Given the description of an element on the screen output the (x, y) to click on. 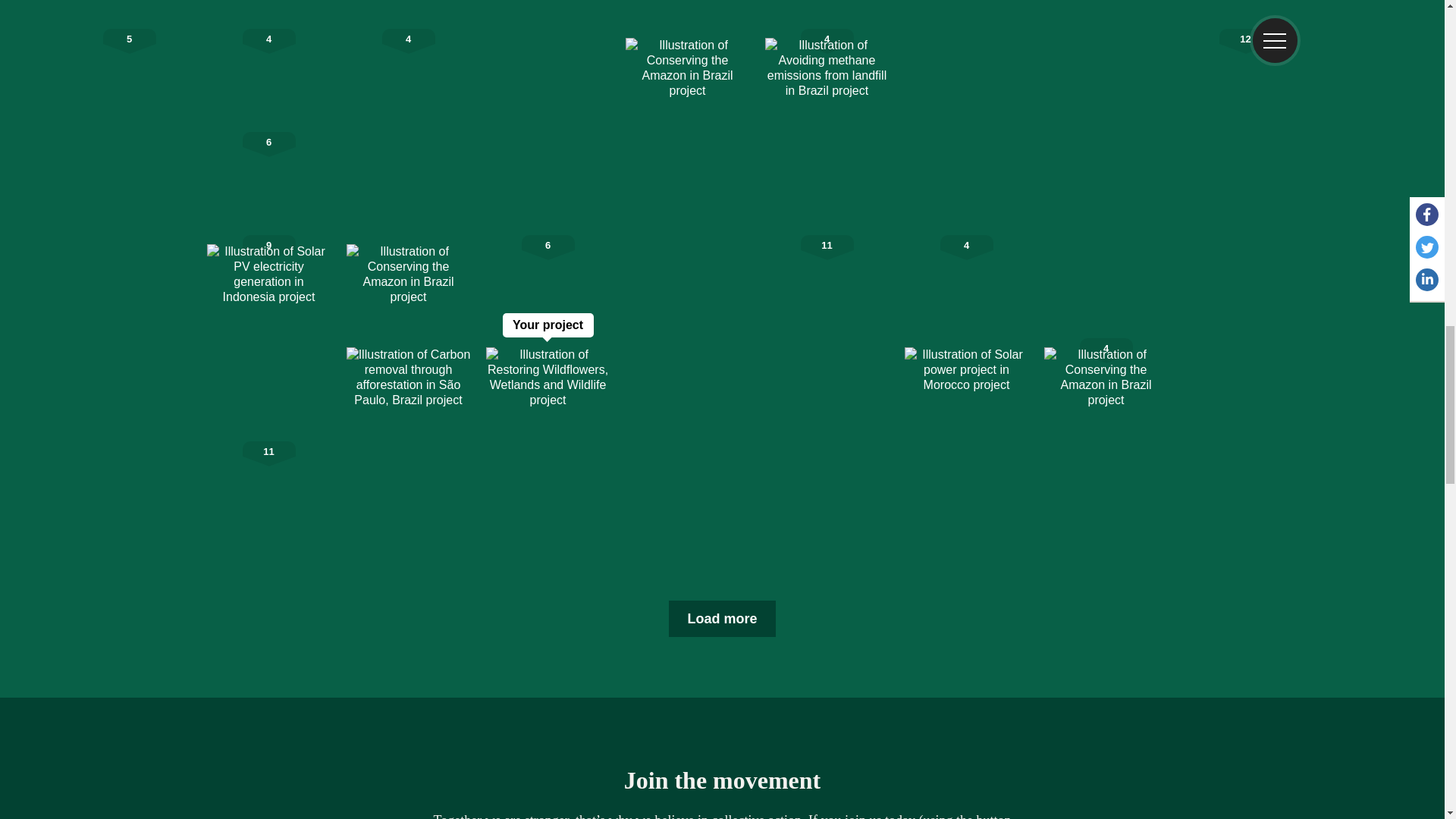
Load more (721, 618)
